Given the description of an element on the screen output the (x, y) to click on. 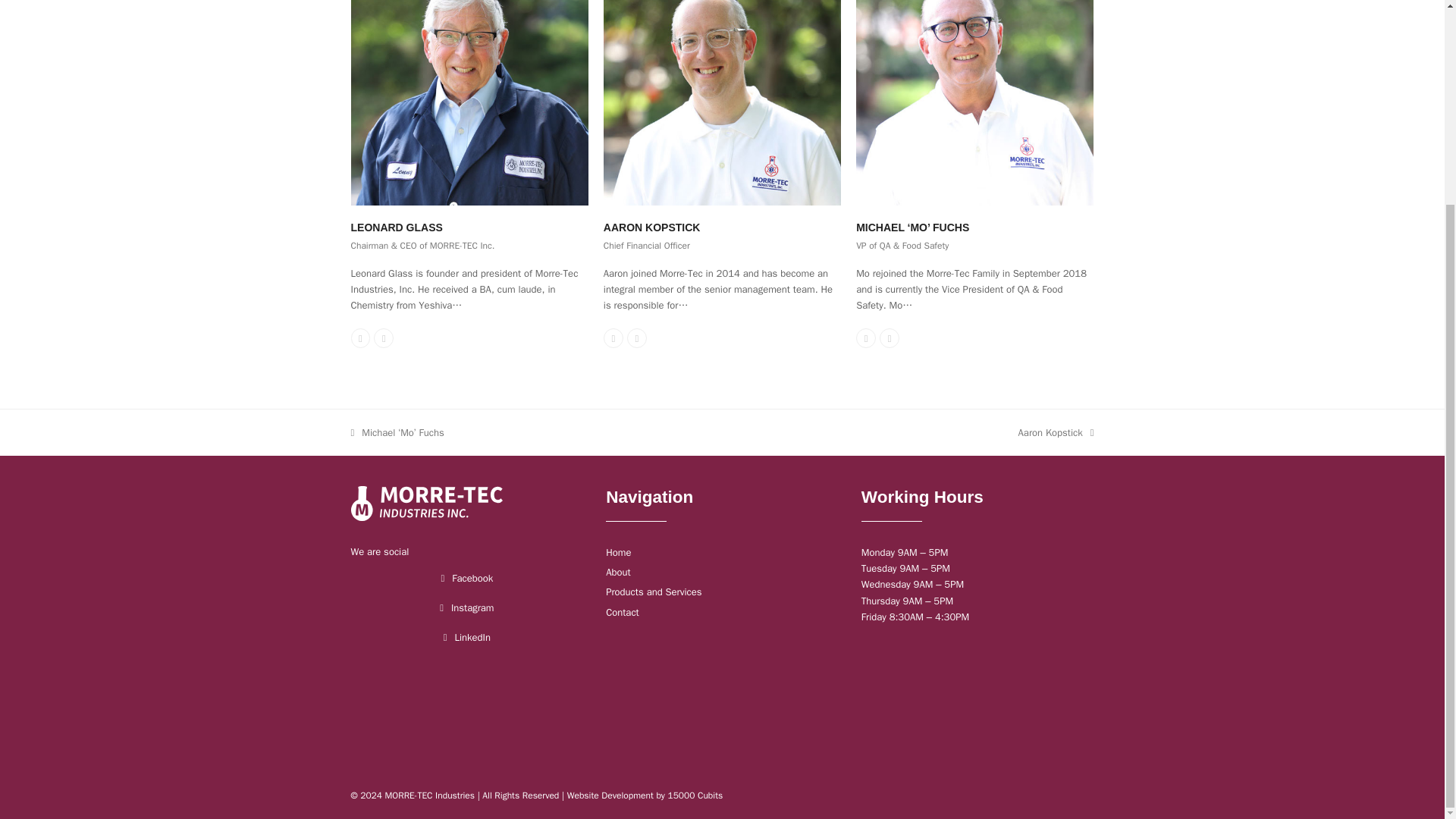
Leonard Glass (469, 85)
About (617, 571)
Phone Number (359, 338)
Home (617, 552)
Phone Number (613, 338)
Contact (622, 611)
Aaron Kopstick (722, 85)
Email (889, 338)
Instagram (472, 609)
LEONARD GLASS (396, 227)
Phone Number (866, 338)
Email (636, 338)
AARON KOPSTICK (652, 227)
15000 Cubits (694, 795)
Products and Services (653, 591)
